Given the description of an element on the screen output the (x, y) to click on. 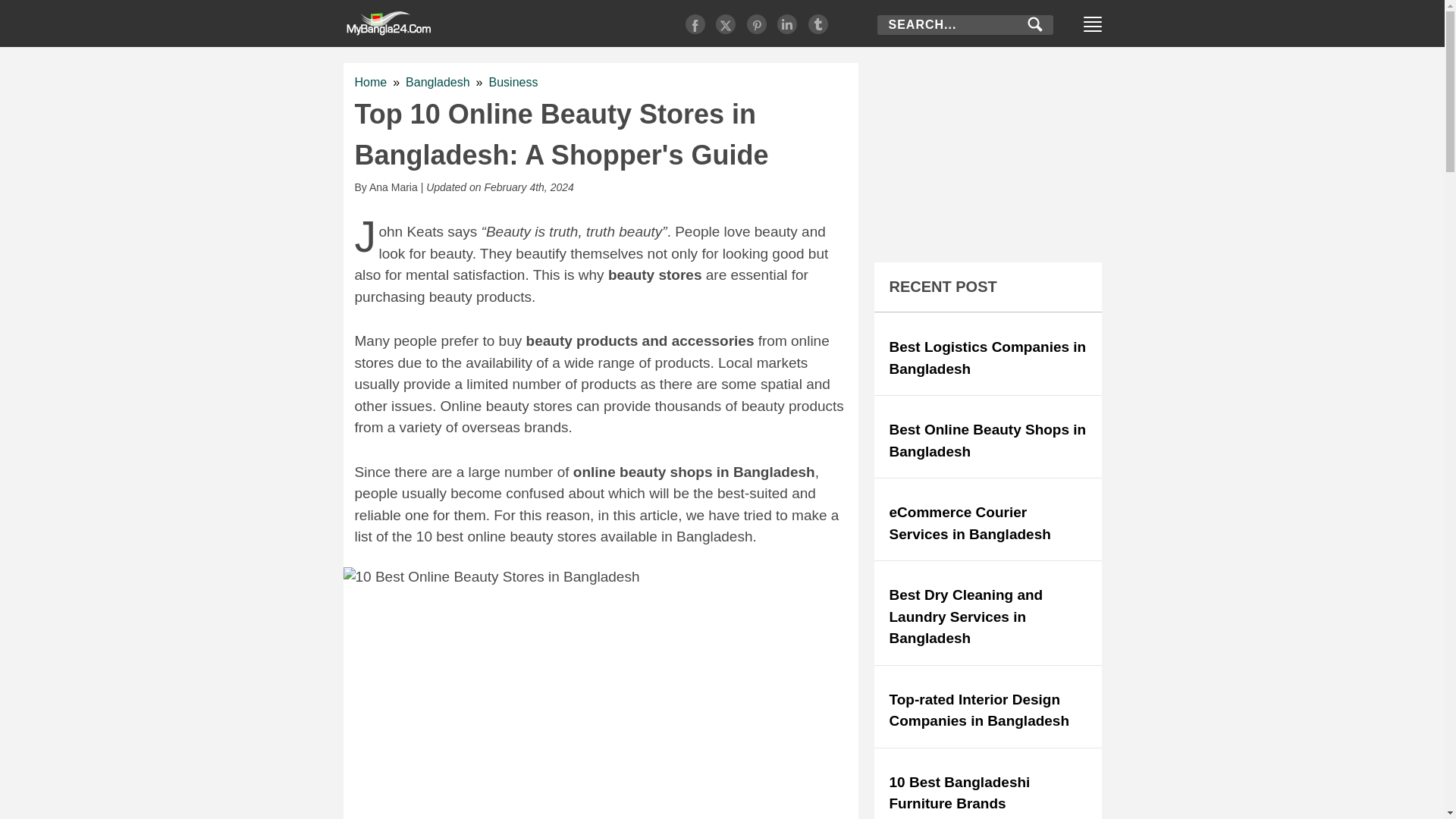
Best Dry Cleaning and Laundry Services in Bangladesh (965, 616)
Linkedin (786, 24)
Top-rated Interior Design Companies in Bangladesh (978, 710)
Search (1034, 24)
Tumblr (818, 24)
Linkedin (786, 24)
Facebook (694, 24)
Menu (1091, 29)
Tumblr (1034, 25)
